Given the description of an element on the screen output the (x, y) to click on. 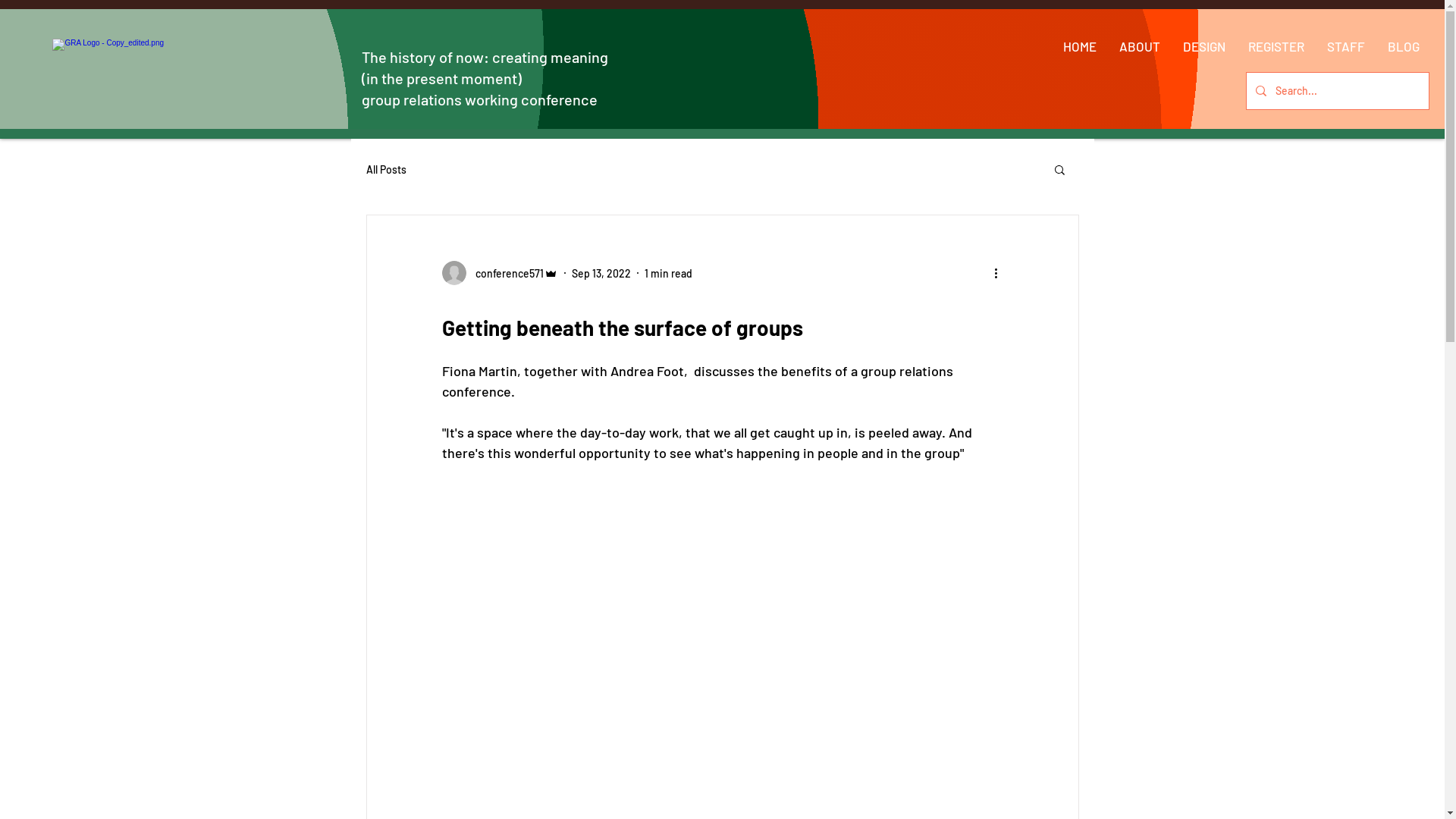
conference571 Element type: text (499, 272)
HOME Element type: text (1079, 46)
ABOUT Element type: text (1139, 46)
STAFF Element type: text (1345, 46)
DESIGN Element type: text (1203, 46)
GRA Logo.png Element type: hover (107, 73)
BLOG Element type: text (1403, 46)
REGISTER Element type: text (1275, 46)
All Posts Element type: text (385, 168)
